Given the description of an element on the screen output the (x, y) to click on. 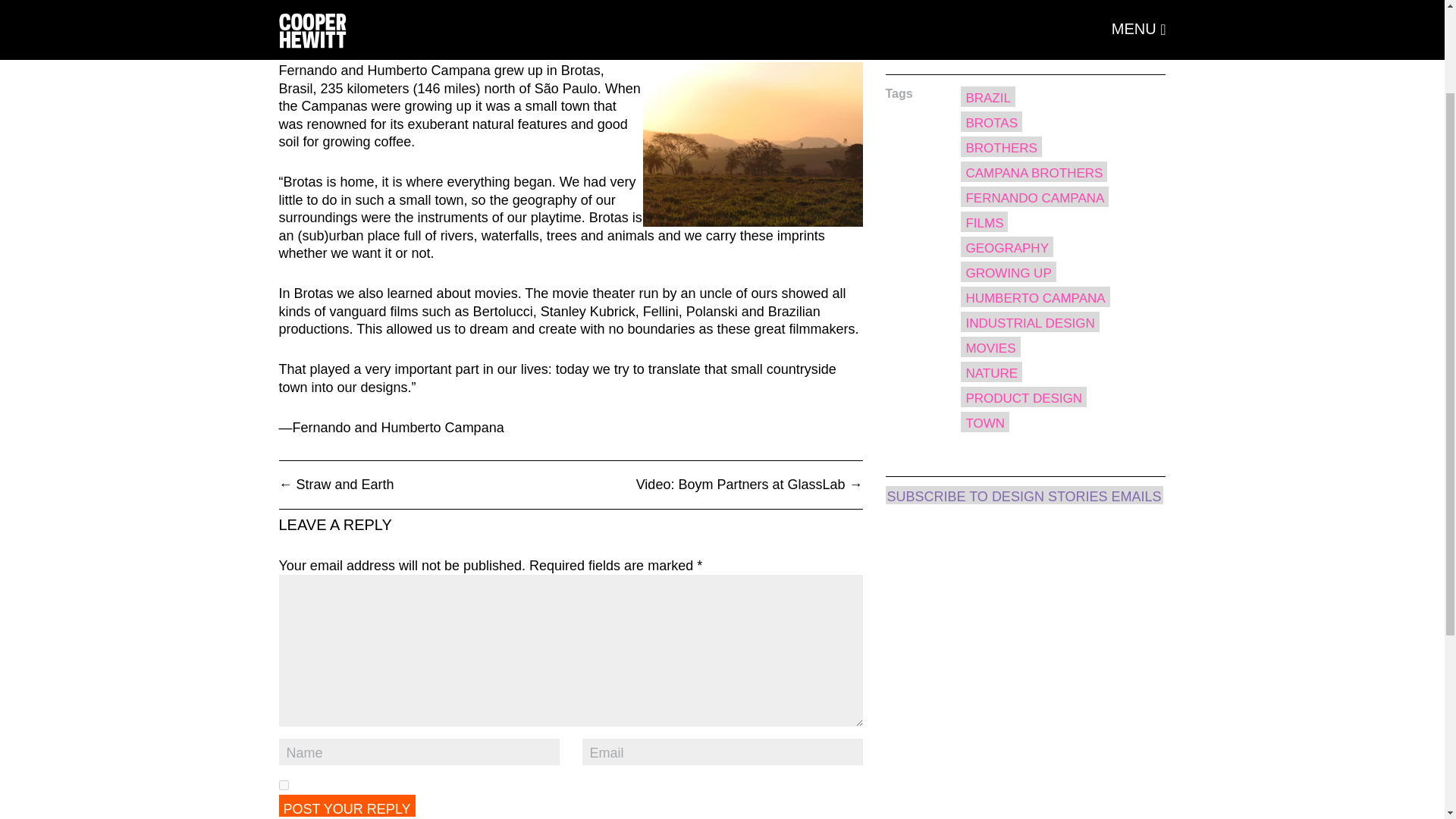
Click to share on Twitter (1001, 35)
yes (283, 785)
Click to email a link to a friend (1092, 35)
Post Your Reply (346, 805)
Click to print (1062, 35)
Click to share on Facebook (970, 35)
Click to share on Pinterest (1032, 35)
